Given the description of an element on the screen output the (x, y) to click on. 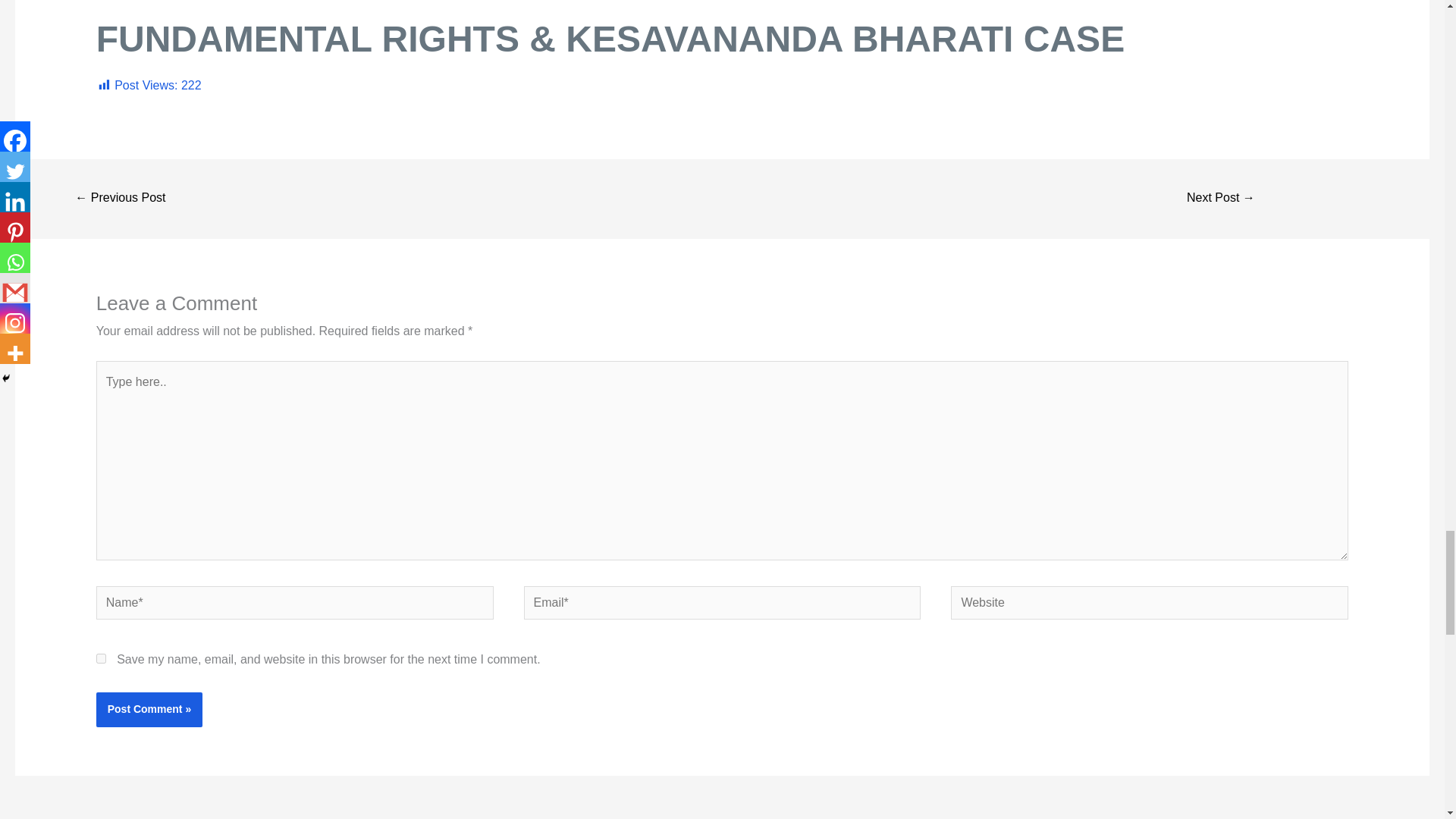
yes (101, 658)
